Given the description of an element on the screen output the (x, y) to click on. 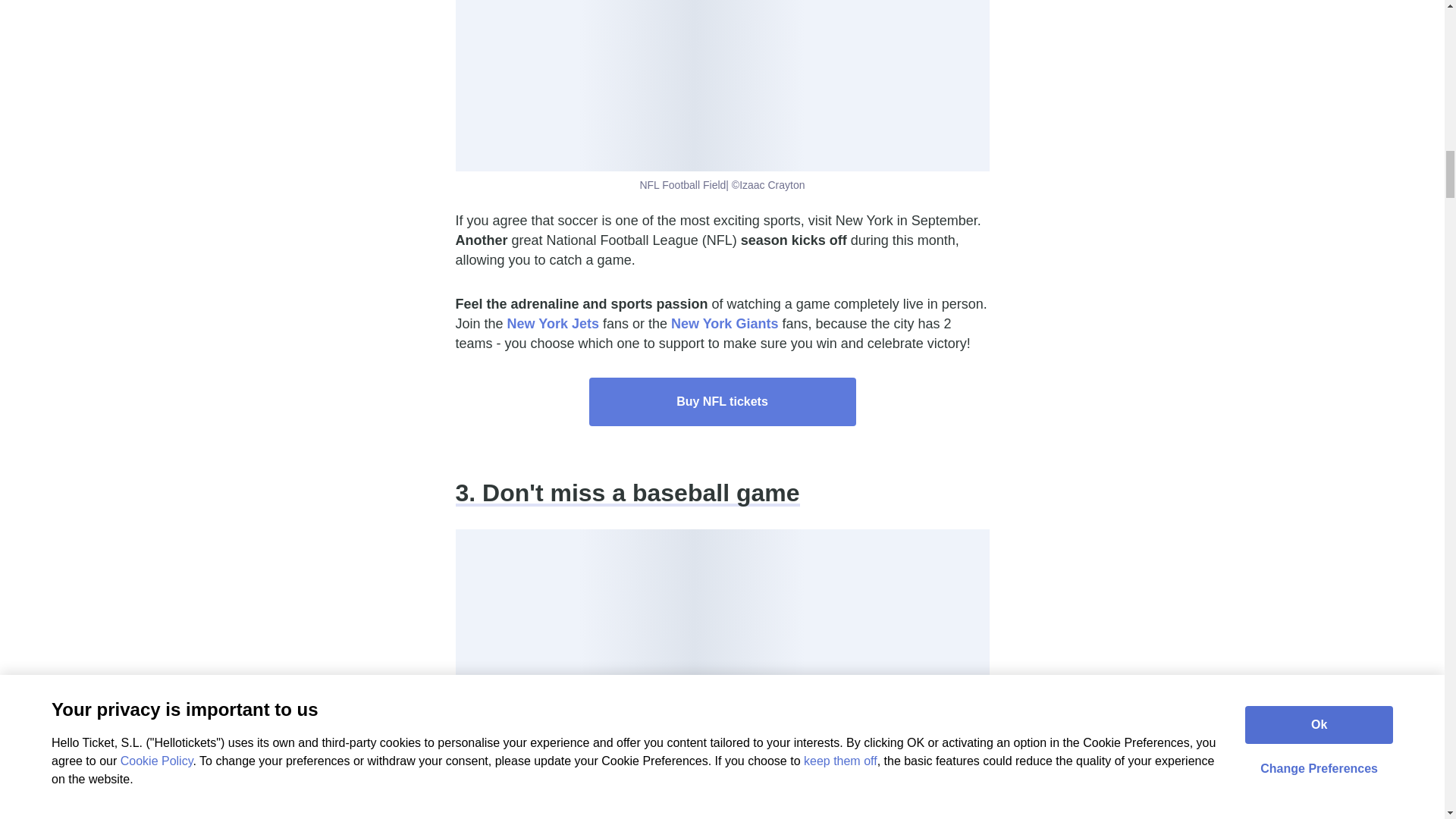
Buy NFL tickets (722, 401)
New York Giants (724, 323)
New York Jets (552, 323)
